Given the description of an element on the screen output the (x, y) to click on. 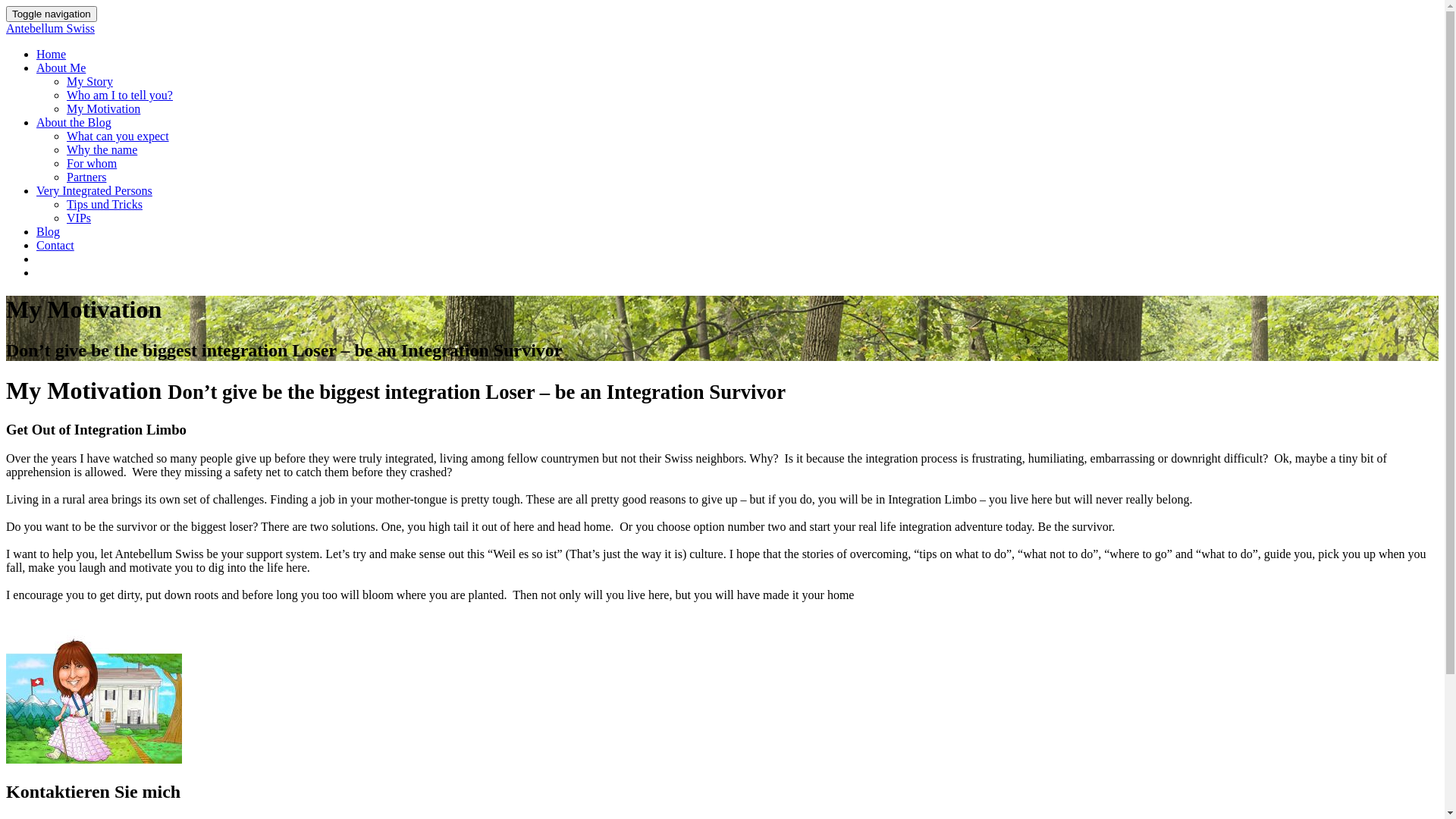
Very Integrated Persons Element type: text (94, 190)
About Me Element type: text (60, 67)
About the Blog Element type: text (73, 122)
Toggle navigation Element type: text (51, 13)
My Story Element type: text (89, 81)
Blog Element type: text (47, 231)
For whom Element type: text (91, 162)
My Motivation Element type: text (103, 108)
Why the name Element type: text (101, 149)
Who am I to tell you? Element type: text (119, 94)
Tips und Tricks Element type: text (104, 203)
VIPs Element type: text (78, 217)
Partners Element type: text (86, 176)
Home Element type: text (50, 53)
Contact Element type: text (55, 244)
What can you expect Element type: text (117, 135)
Antebellum Swiss Element type: text (722, 35)
